Given the description of an element on the screen output the (x, y) to click on. 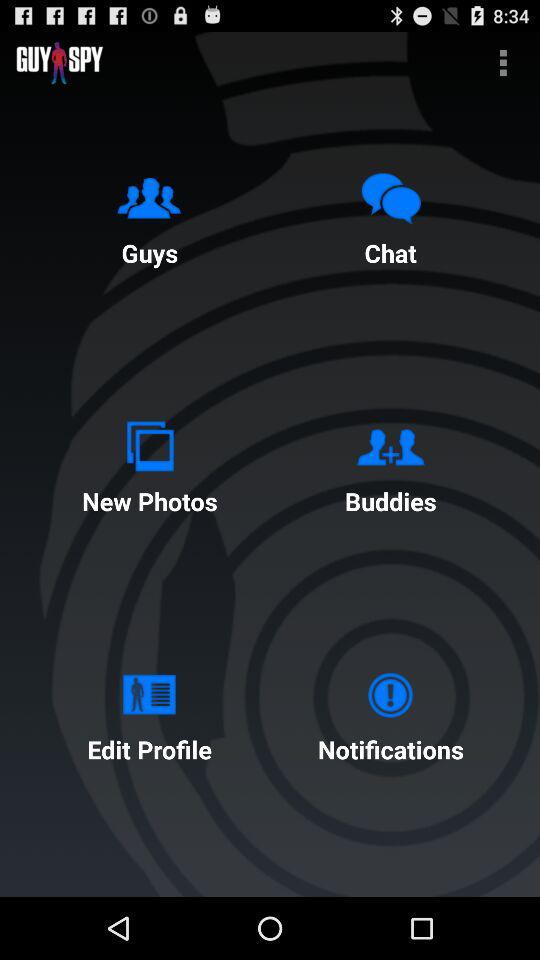
scroll to edit profile icon (149, 712)
